Given the description of an element on the screen output the (x, y) to click on. 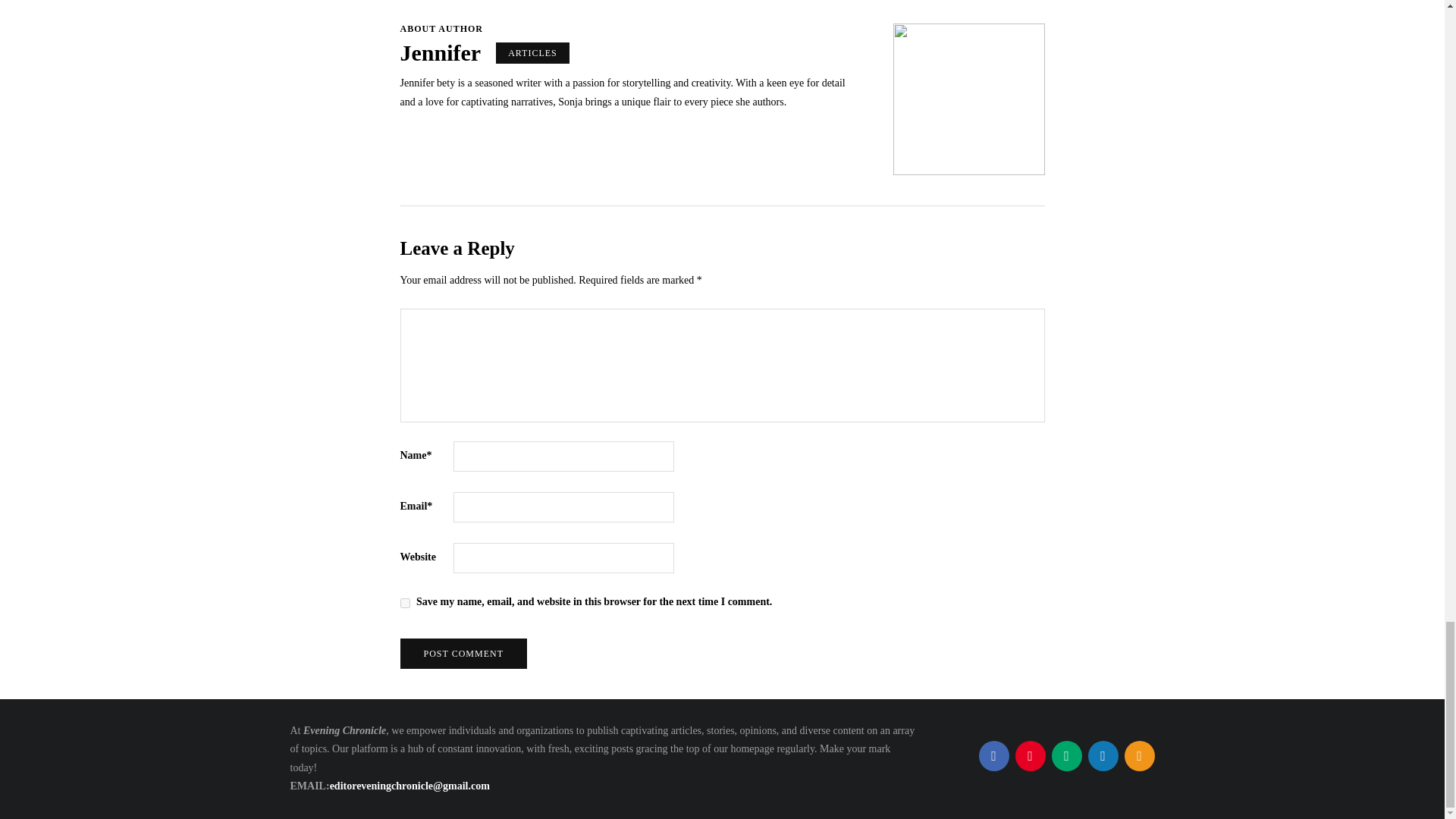
Post comment (463, 653)
ARTICLES (532, 52)
Posts by Jennifer (440, 52)
Jennifer (440, 52)
Post comment (463, 653)
yes (405, 603)
